Given the description of an element on the screen output the (x, y) to click on. 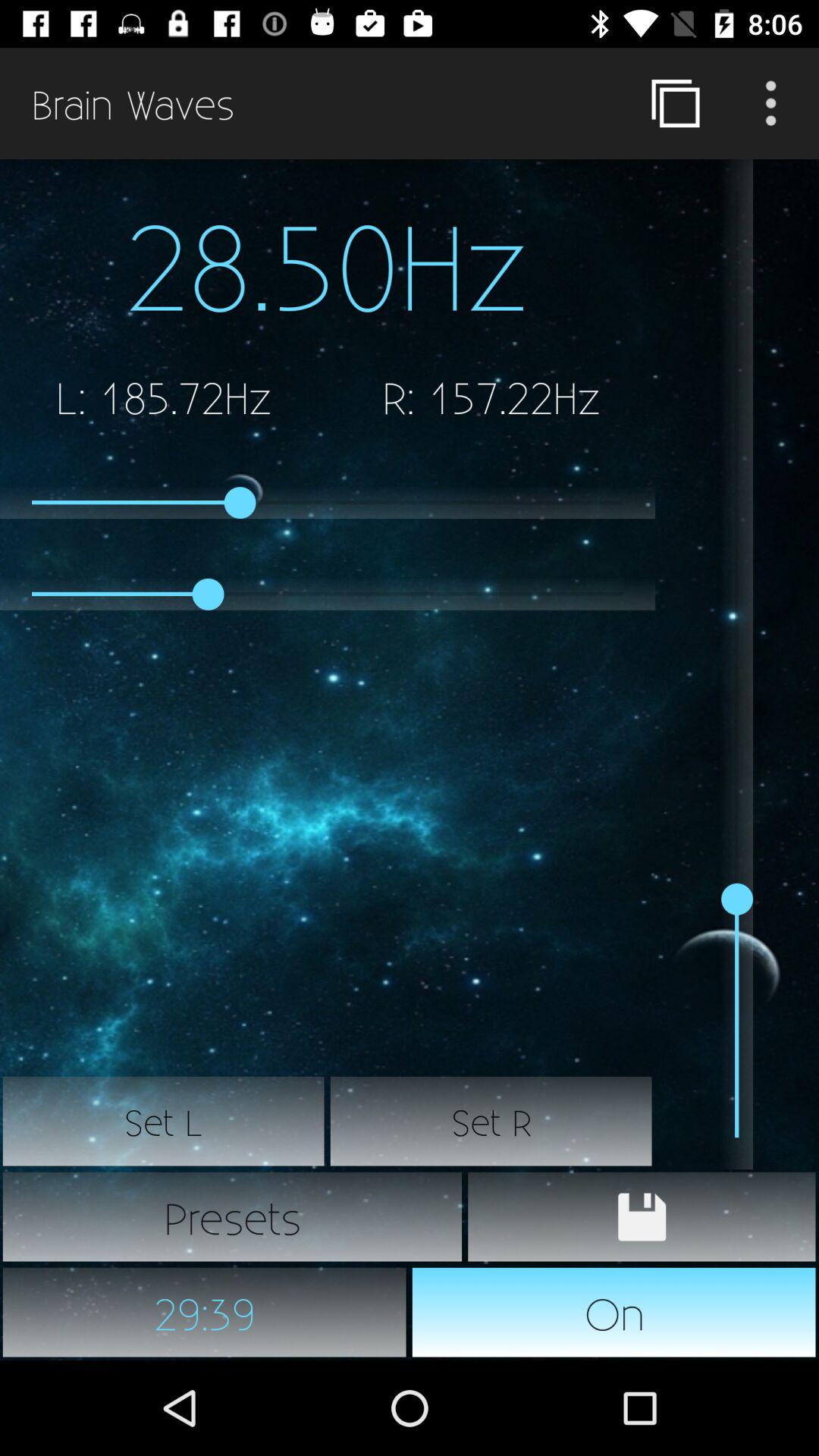
launch icon above the presets icon (163, 1121)
